Given the description of an element on the screen output the (x, y) to click on. 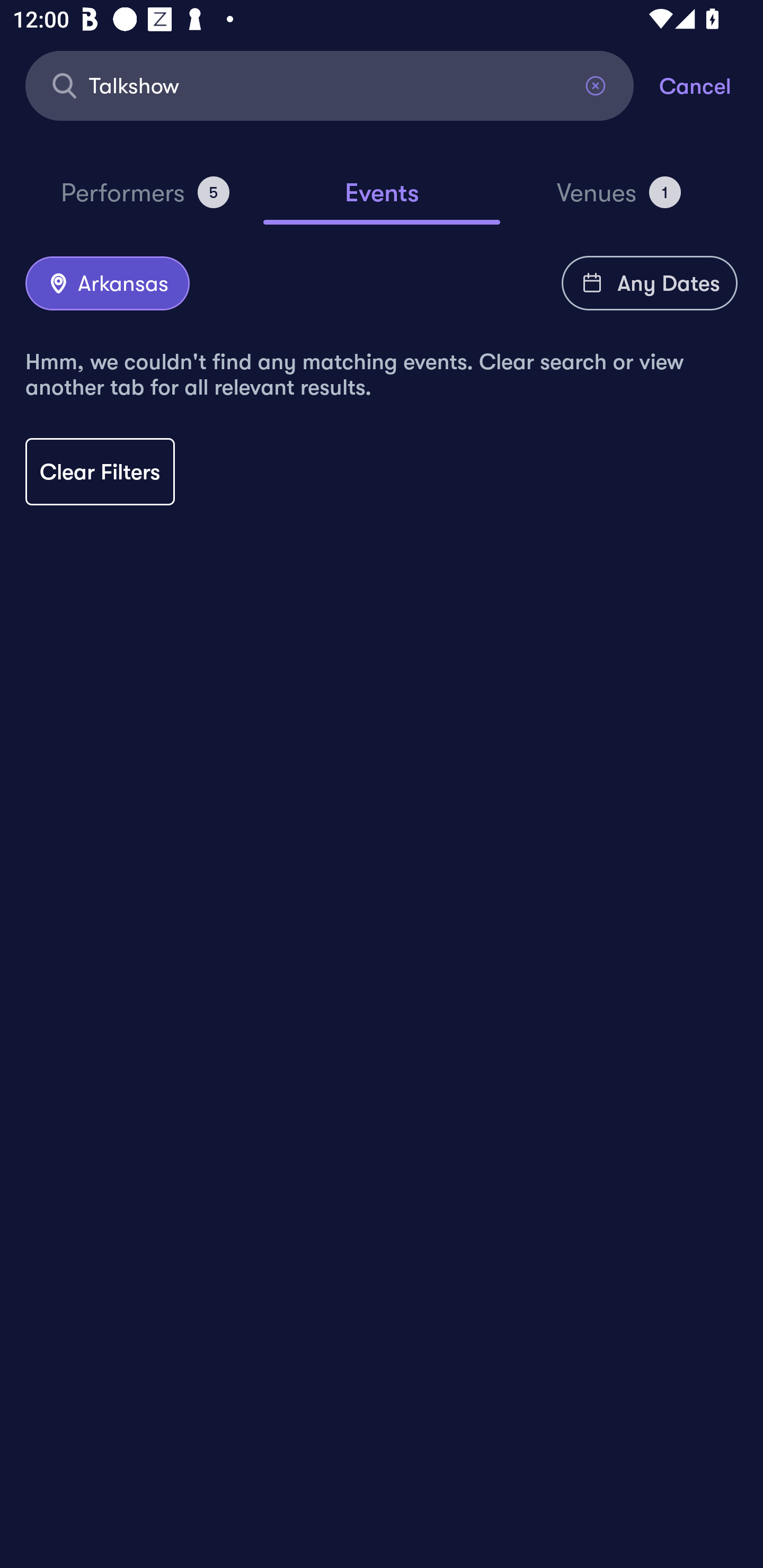
Talkshow Find (329, 85)
Talkshow Find (329, 85)
Cancel (711, 85)
Performers 5 (144, 200)
Venues 1 (618, 200)
Events (381, 201)
Any Dates (649, 282)
Arkansas (107, 283)
Clear Filters (99, 470)
